Given the description of an element on the screen output the (x, y) to click on. 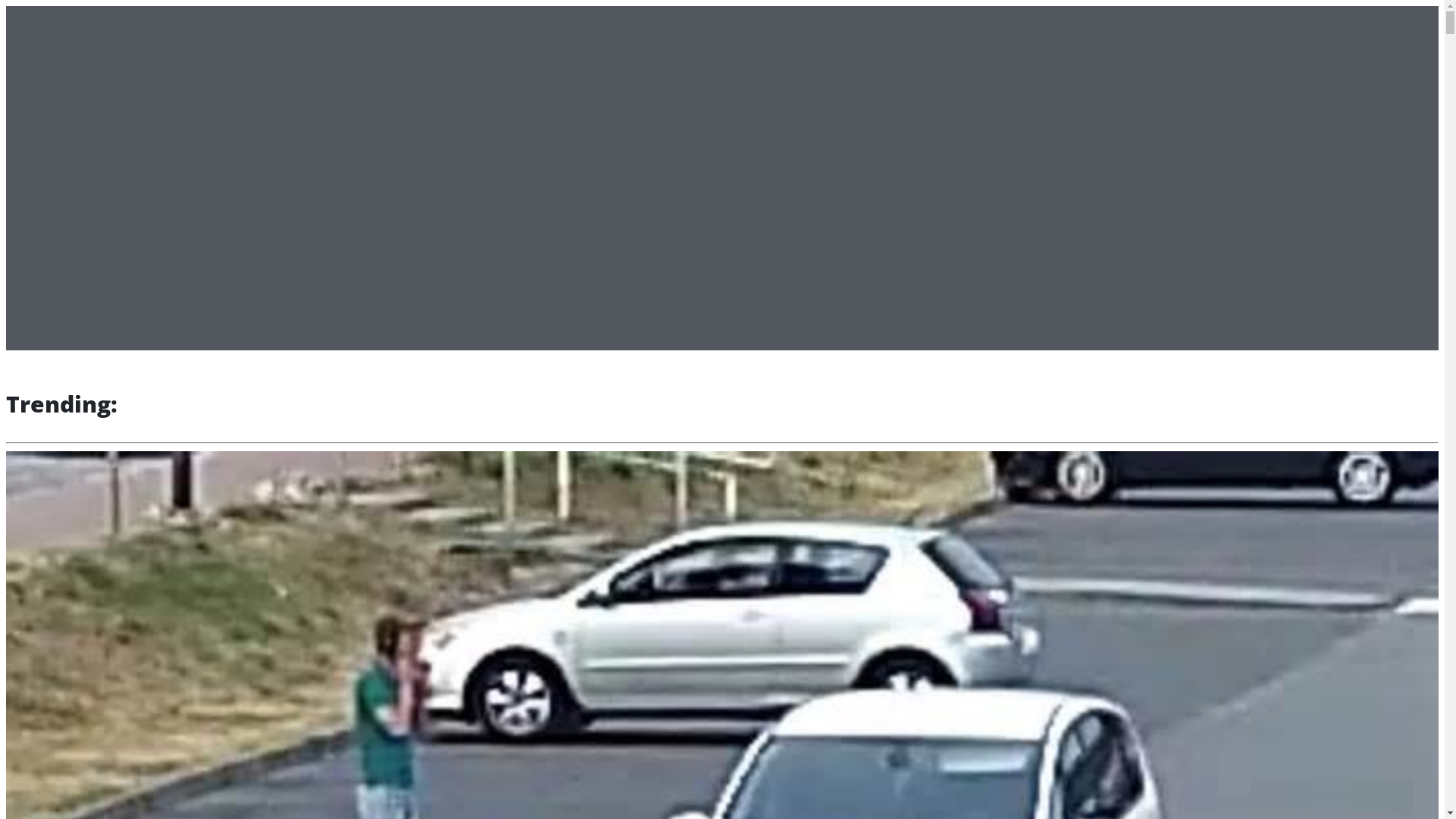
HOME Element type: text (67, 67)
MENU Element type: text (157, 22)
SDFDSF32FSD Element type: text (85, 87)
equateur.cd Element type: text (67, 19)
